Given the description of an element on the screen output the (x, y) to click on. 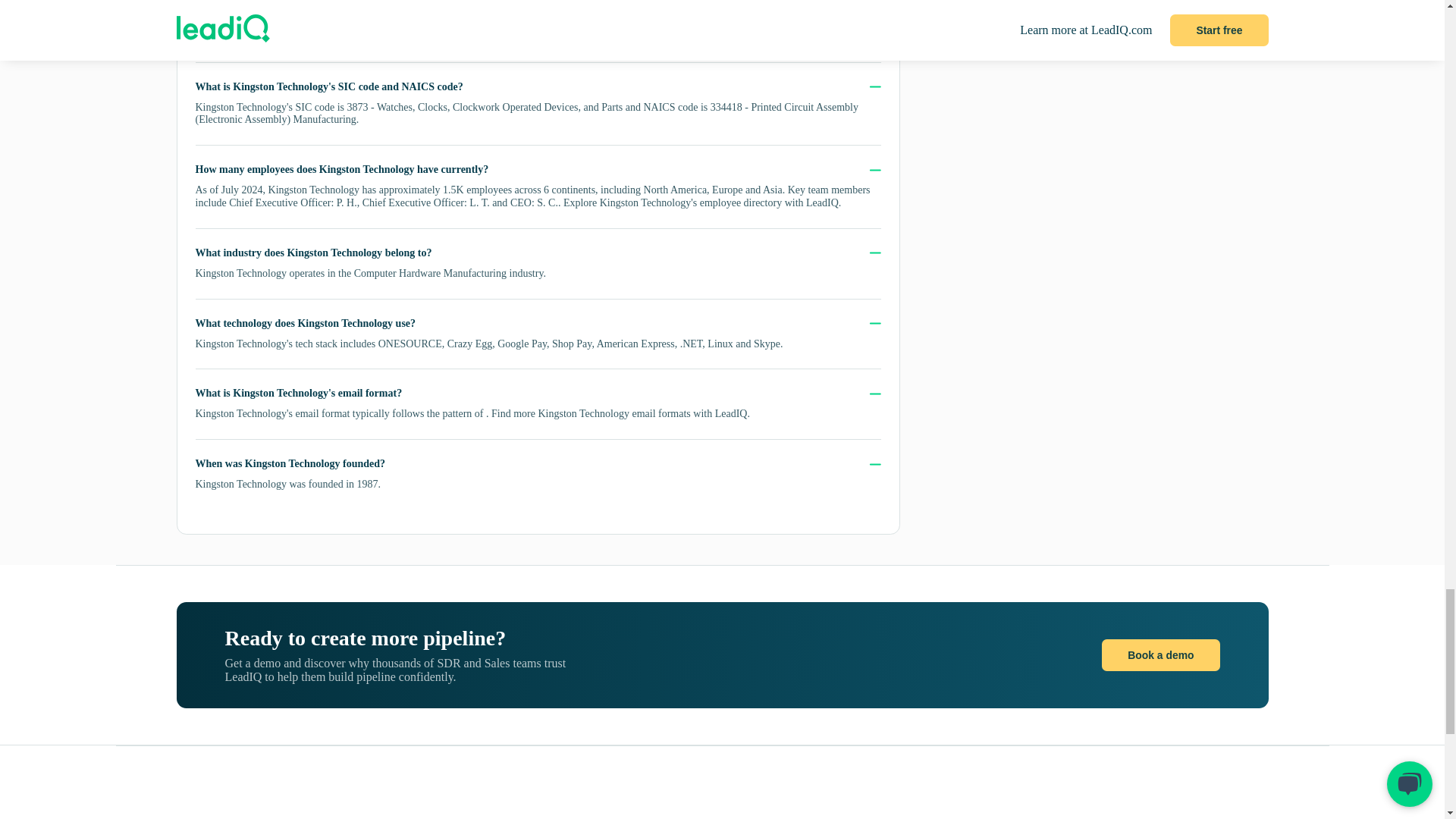
Find more Kingston Technology email formats (591, 413)
Kingston Technology's employee directory (690, 202)
